Given the description of an element on the screen output the (x, y) to click on. 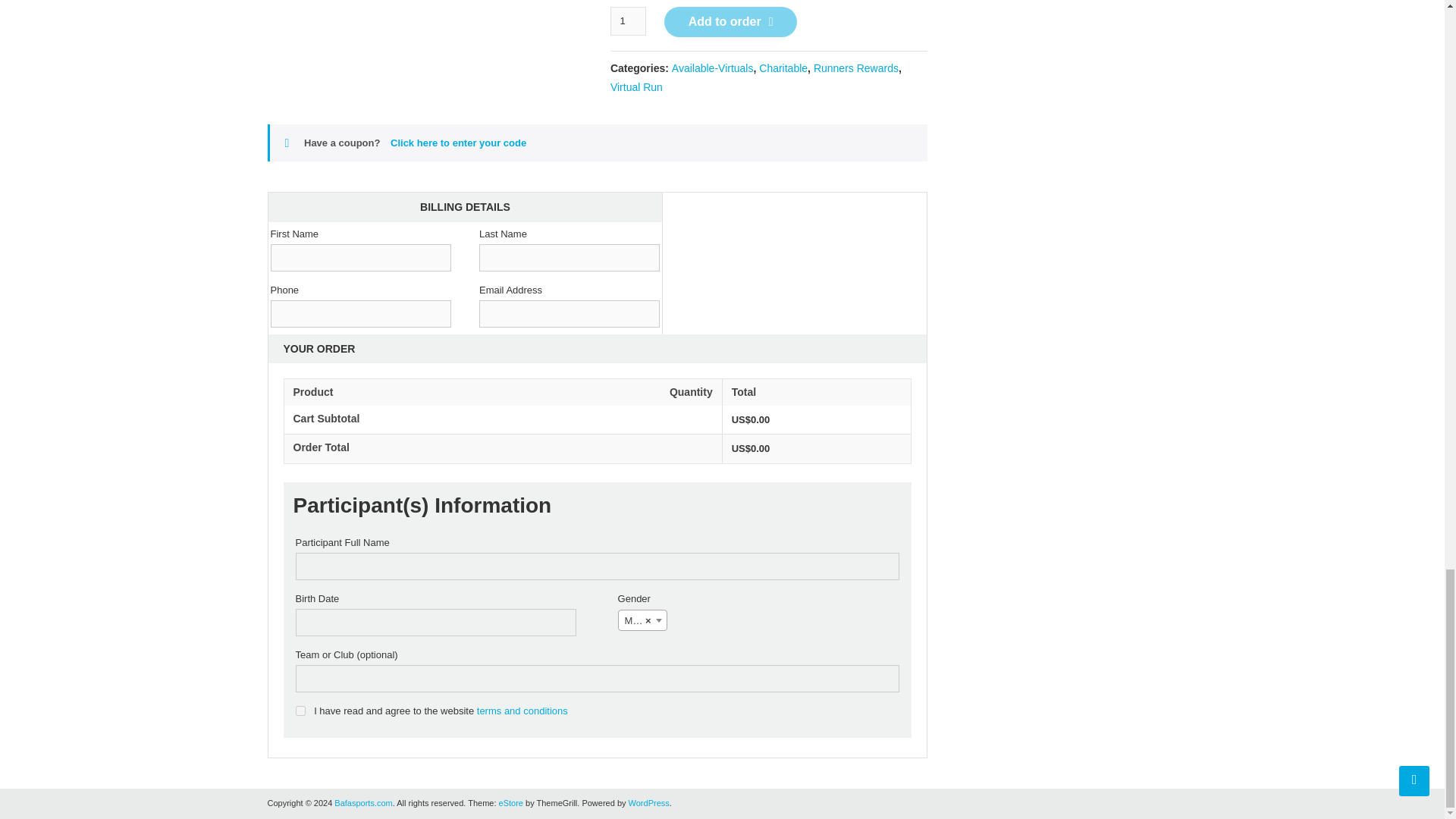
Runners Rewards (855, 68)
on (300, 710)
Bafasports.com (362, 802)
Available-Virtuals (712, 68)
Bafasports.com (362, 802)
Click here to enter your code (457, 142)
1 (628, 20)
WordPress (648, 802)
Charitable (783, 68)
Virtual Run (636, 87)
